Given the description of an element on the screen output the (x, y) to click on. 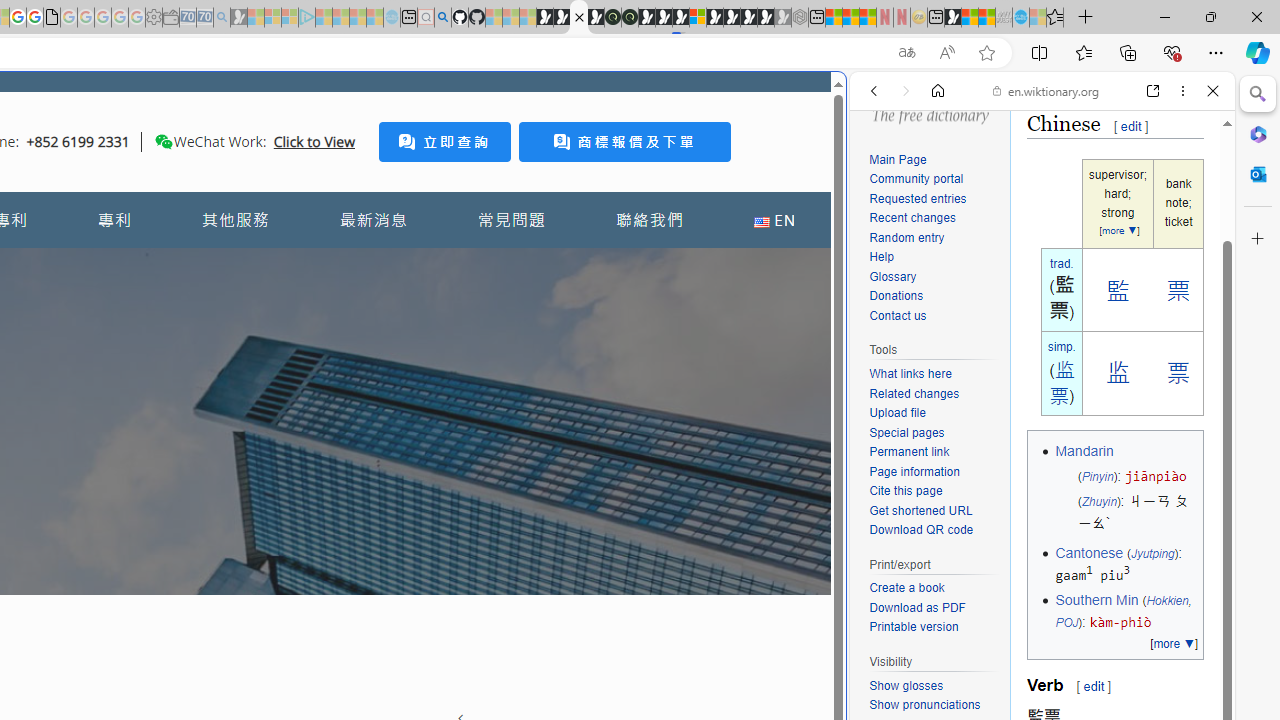
Sign in to your account (697, 17)
Search or enter web address (343, 191)
Zhuyin (1099, 502)
Page information (914, 470)
EN (774, 220)
Create a book (906, 588)
Services - Maintenance | Sky Blue Bikes - Sky Blue Bikes (1020, 17)
